Given the description of an element on the screen output the (x, y) to click on. 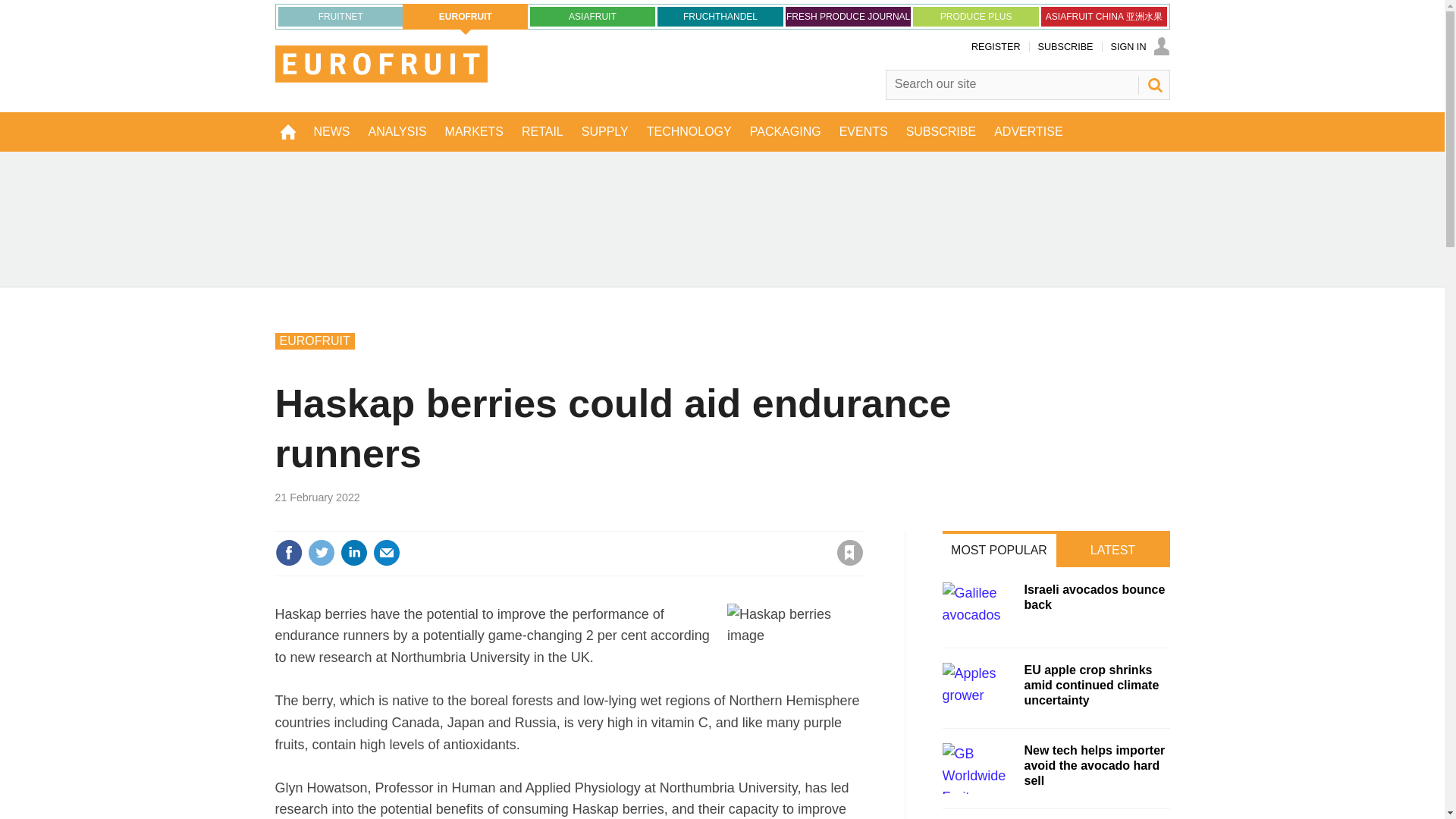
Share this on Twitter (320, 552)
NEWS (331, 131)
ASIAFRUIT (592, 16)
FRUITNET (340, 16)
Share this on Linked in (352, 552)
PRODUCE PLUS (975, 16)
MARKETS (473, 131)
SIGN IN (1139, 46)
SUBSCRIBE (1065, 46)
EUROFRUIT (465, 16)
